Given the description of an element on the screen output the (x, y) to click on. 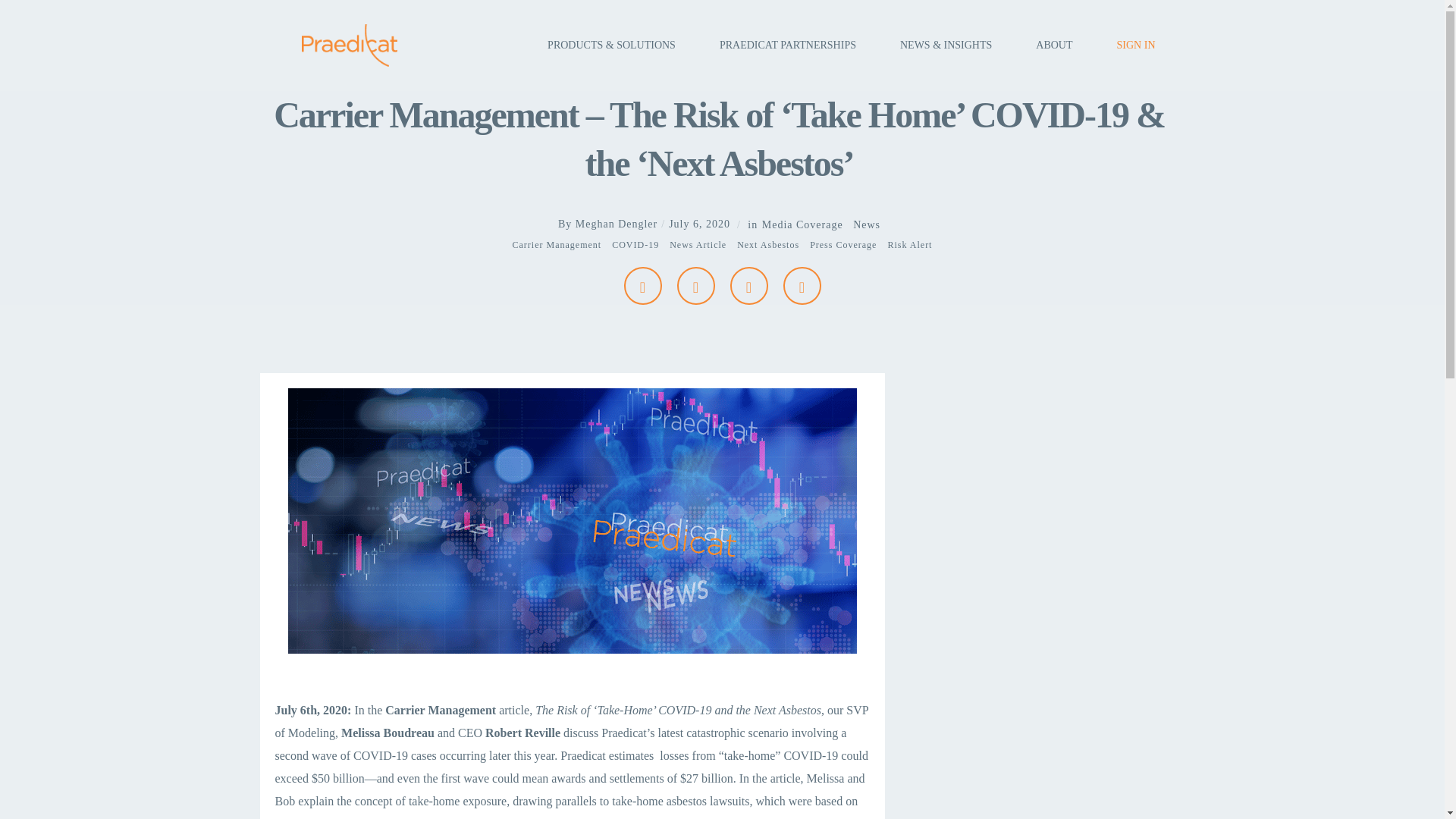
Media Coverage (802, 224)
PRAEDICAT PARTNERSHIPS (787, 45)
COVID-19 (635, 245)
Share on LinkedIn (802, 285)
News (866, 224)
Share via email (642, 285)
Share on Twitter (748, 285)
Press Coverage (842, 245)
Meghan Dengler (616, 224)
Next Asbestos (767, 245)
Risk Alert (908, 245)
Carrier Management (557, 245)
News Article (697, 245)
Posts by Meghan Dengler (616, 224)
